Given the description of an element on the screen output the (x, y) to click on. 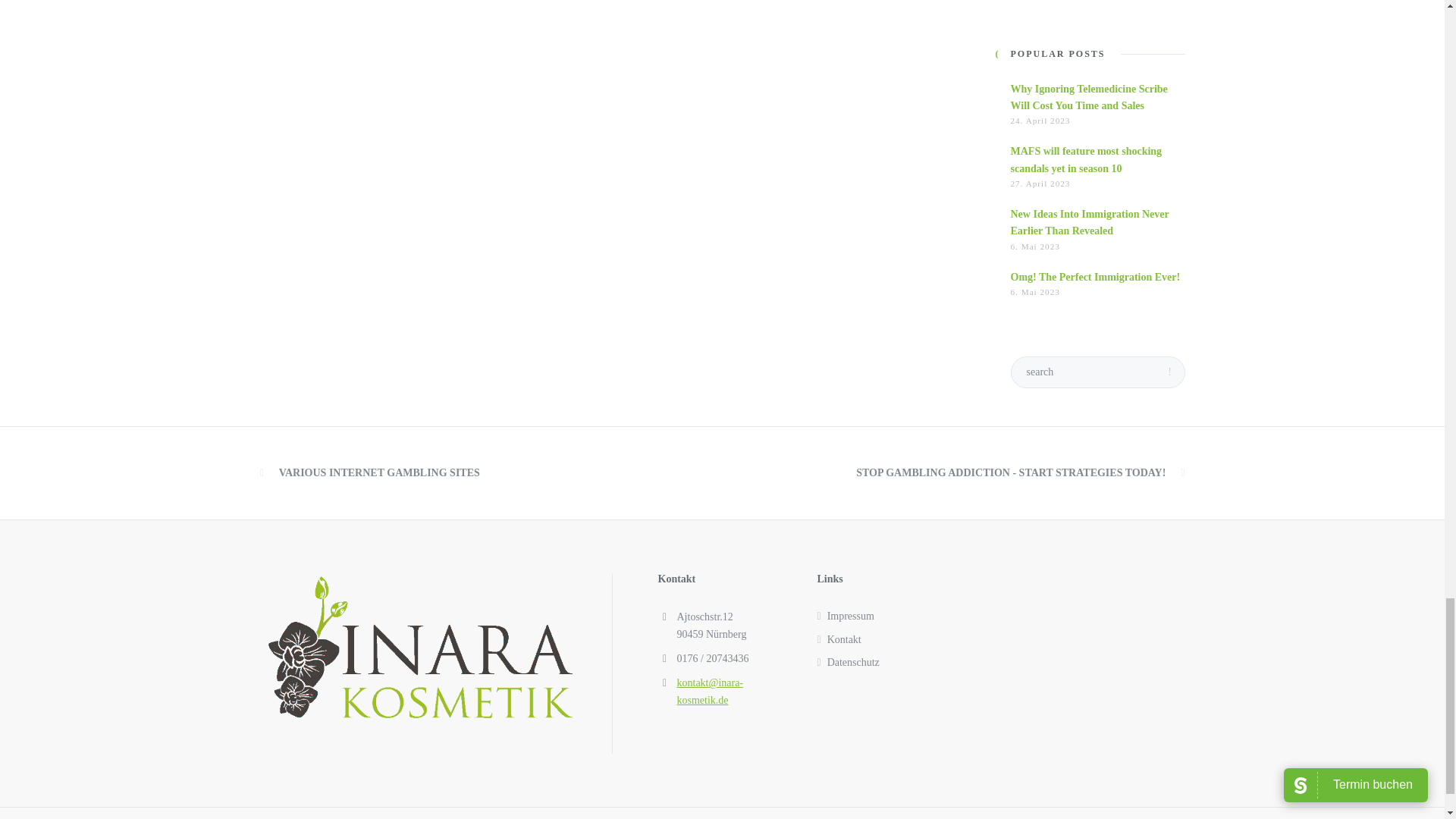
MAFS will feature most shocking scandals yet in season 10 (1085, 159)
